Given the description of an element on the screen output the (x, y) to click on. 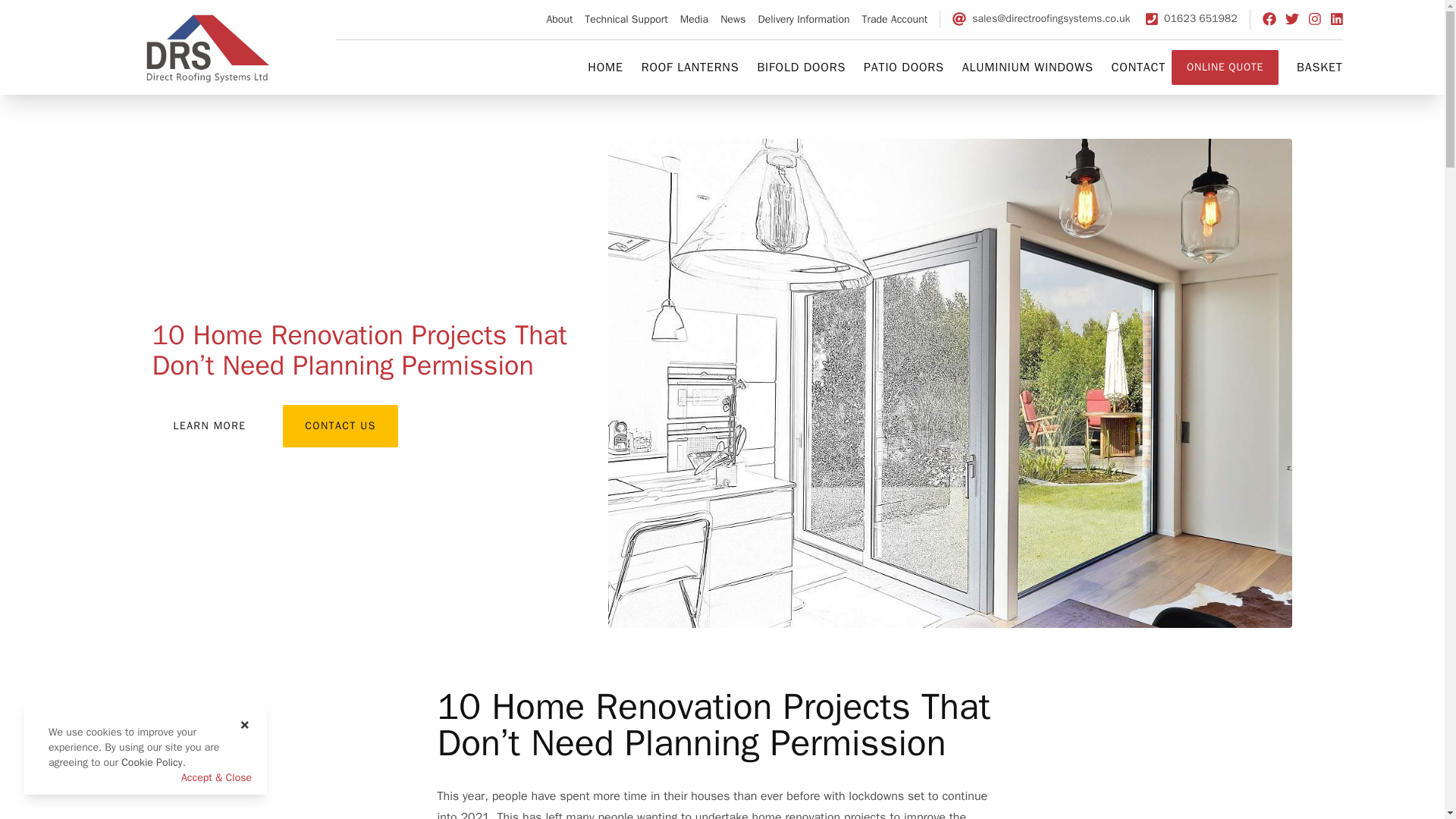
BIFOLD DOORS (801, 67)
PATIO DOORS (903, 67)
ALUMINIUM WINDOWS (1027, 67)
Delivery Information (802, 19)
Technical Support (625, 19)
ROOF LANTERNS (690, 67)
Trade Account (894, 19)
ONLINE QUOTE (1225, 67)
LEARN MORE (208, 426)
CONTACT US (339, 425)
Cookie Policy (151, 762)
CONTACT (1139, 67)
LEARN MORE (208, 426)
01623 651982 (1190, 18)
